Given the description of an element on the screen output the (x, y) to click on. 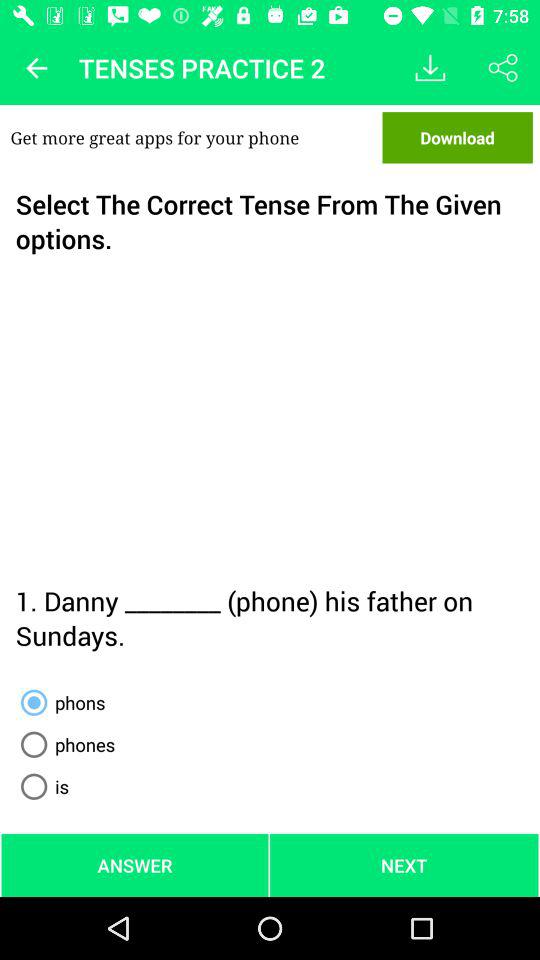
launch the phons radio button (59, 702)
